Given the description of an element on the screen output the (x, y) to click on. 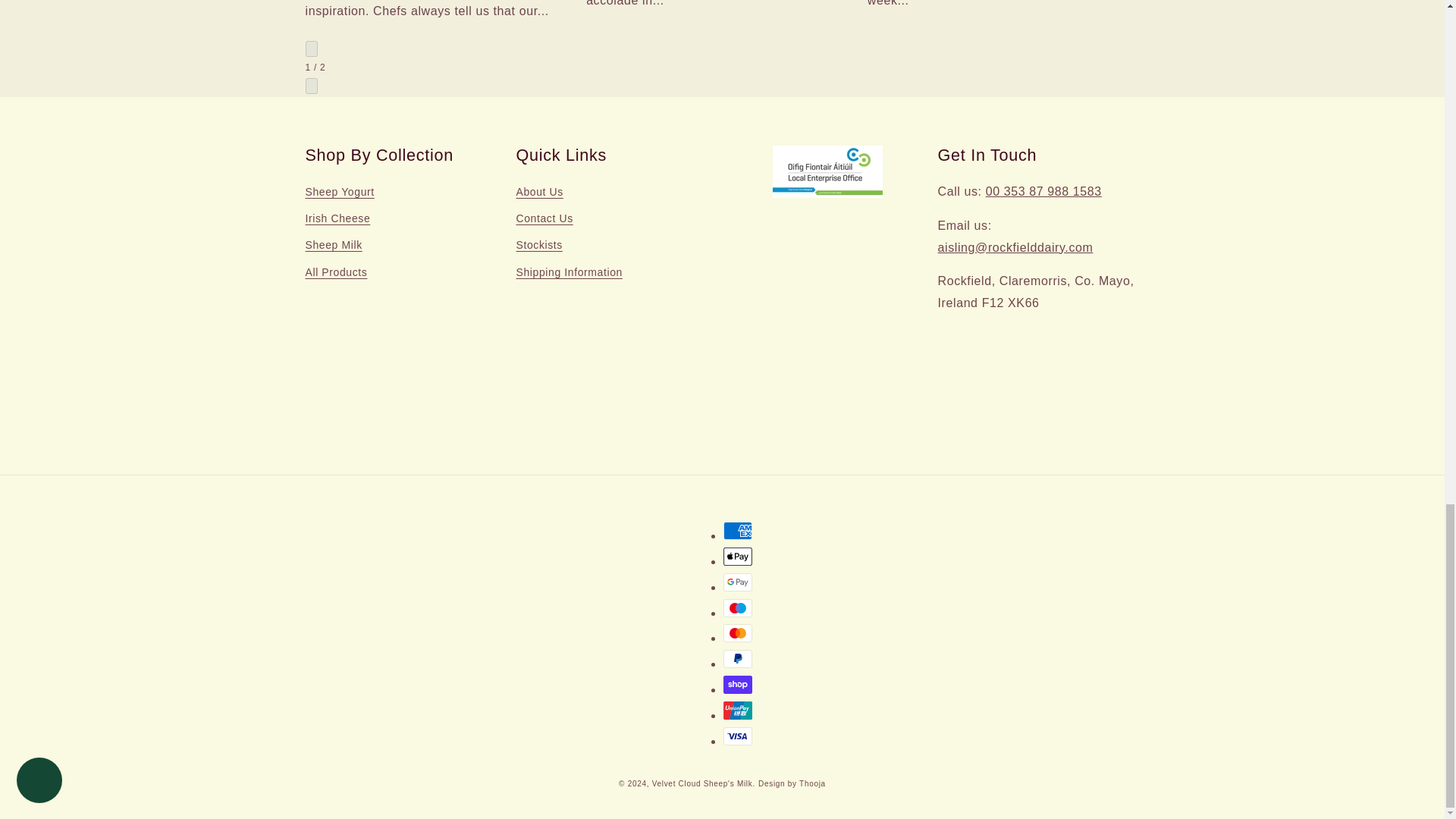
Union Pay (737, 710)
American Express (737, 530)
Google Pay (737, 582)
Visa (737, 736)
Mastercard (737, 633)
PayPal (737, 659)
Shop Pay (737, 684)
Apple Pay (737, 556)
Maestro (737, 607)
